Given the description of an element on the screen output the (x, y) to click on. 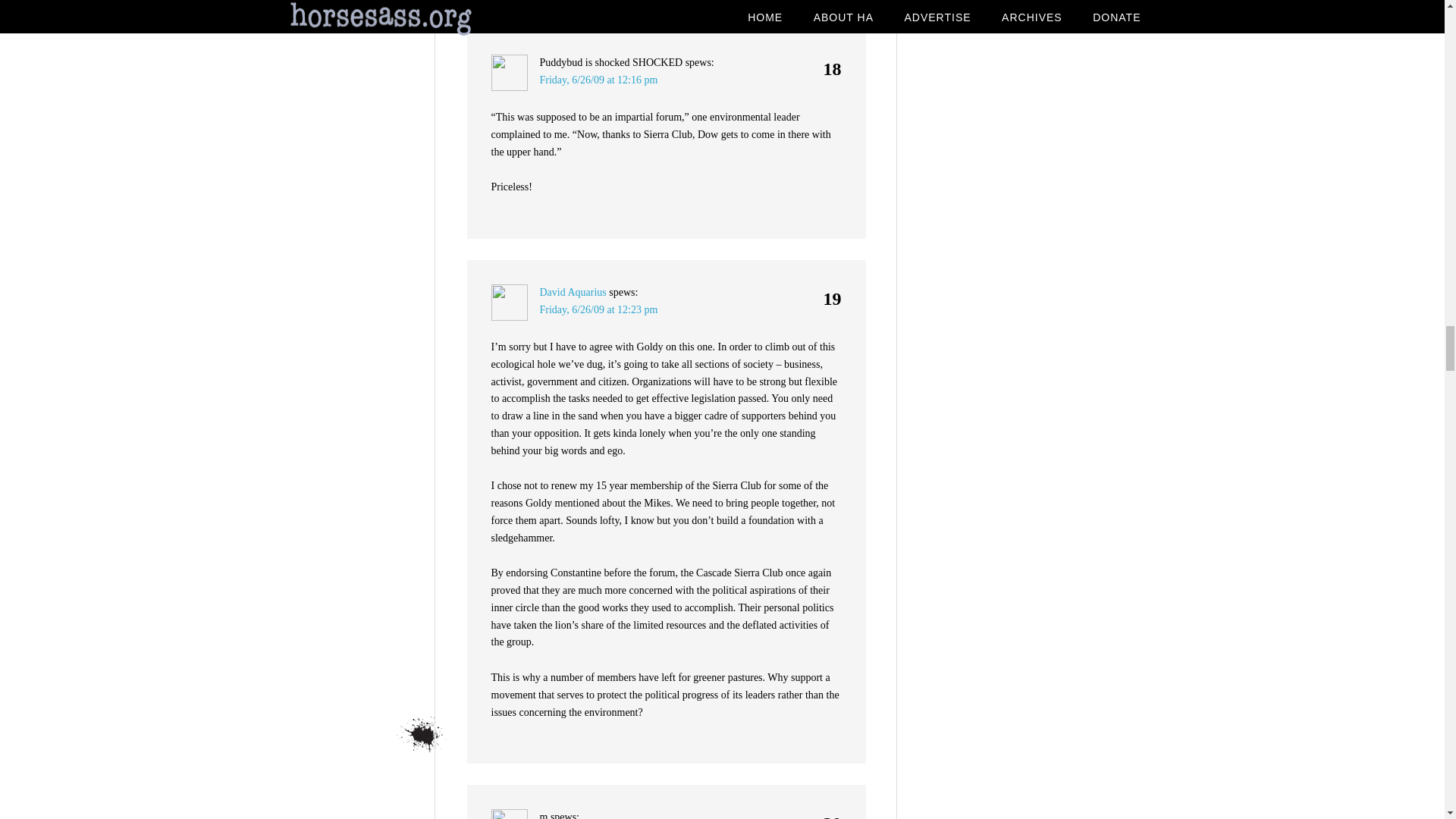
David Aquarius (573, 292)
